Given the description of an element on the screen output the (x, y) to click on. 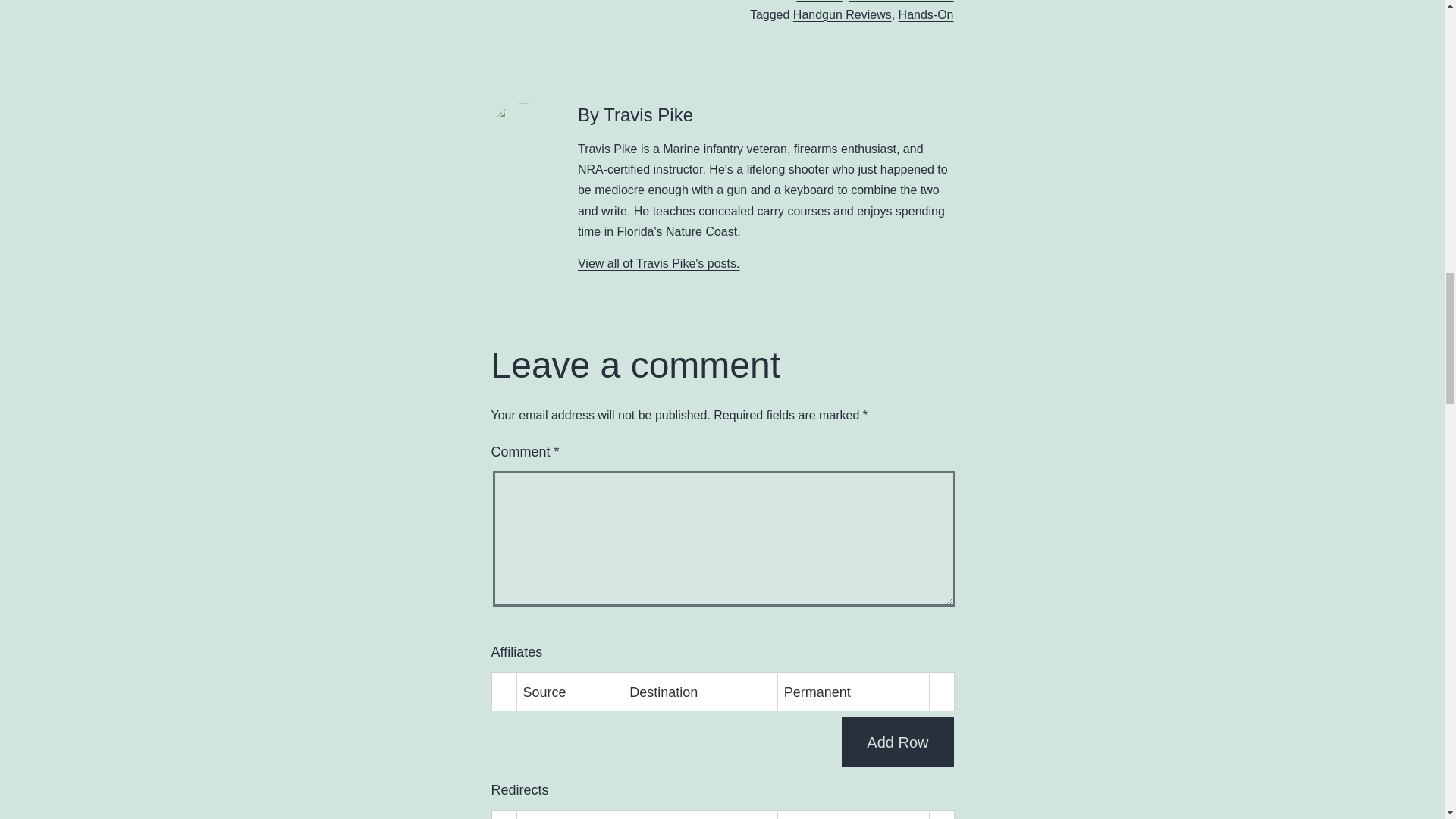
Add Row (897, 742)
Handgun Reviews (842, 14)
Hands-On (925, 14)
View all of Travis Pike's posts. (658, 263)
